Given the description of an element on the screen output the (x, y) to click on. 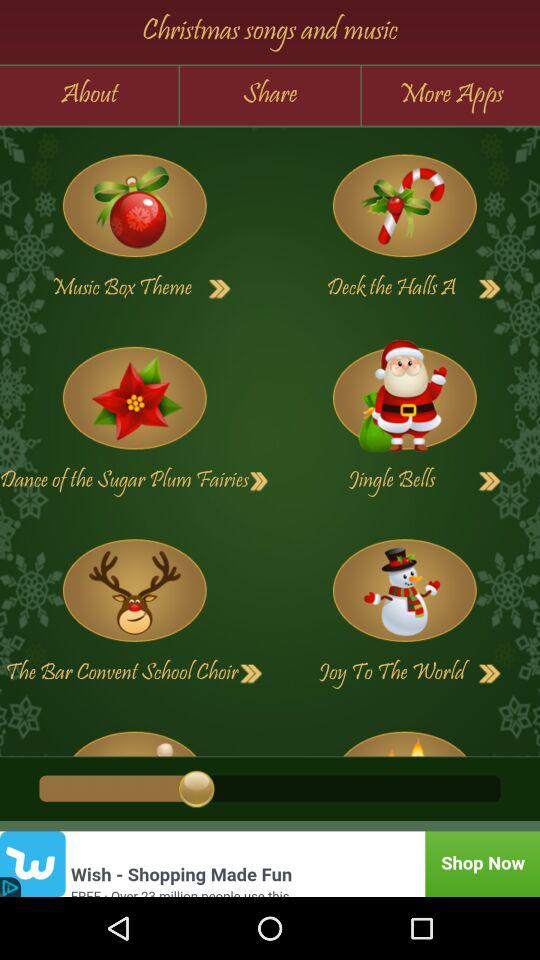
games page (134, 590)
